Given the description of an element on the screen output the (x, y) to click on. 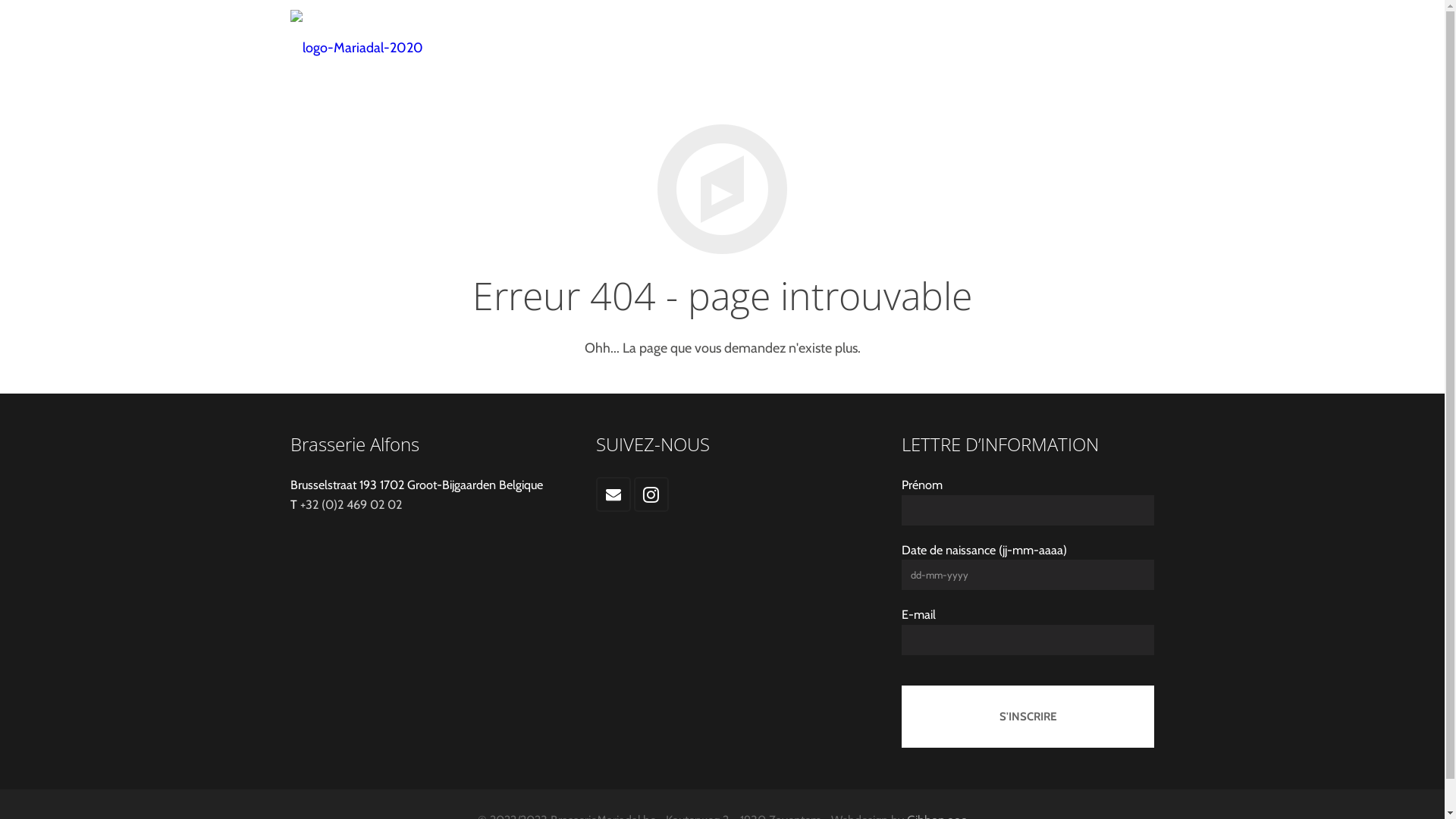
CONTACT Element type: text (780, 37)
NOS ATOUTS Element type: text (945, 37)
NL Element type: text (1041, 37)
+32 (0)2 469 02 02 Element type: text (350, 503)
ALFONS Element type: text (634, 37)
FR Element type: text (1011, 37)
MENU Element type: text (706, 37)
EVENTS Element type: text (858, 37)
S'INSCRIRE Element type: text (1027, 716)
